Given the description of an element on the screen output the (x, y) to click on. 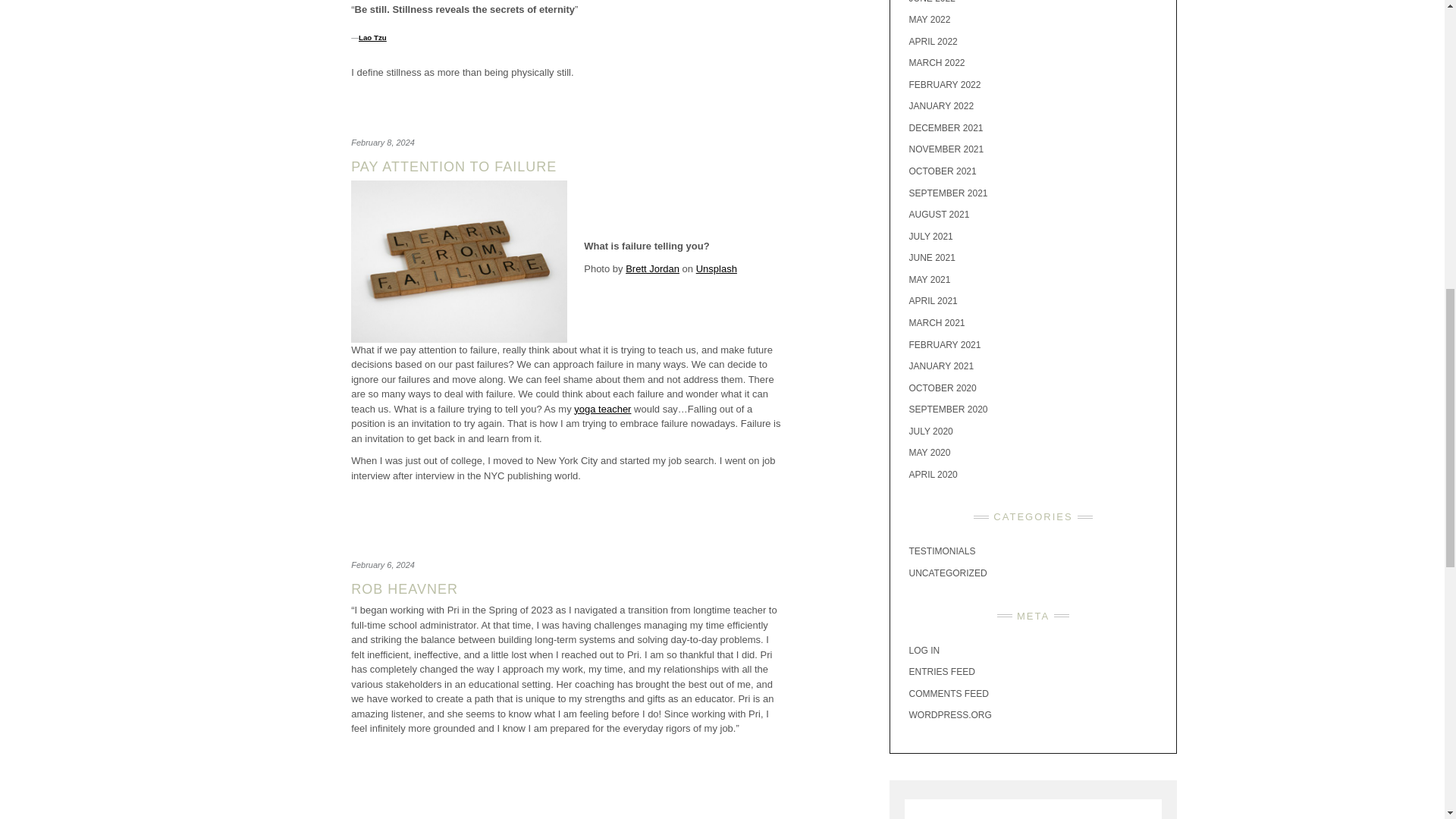
Lao Tzu (372, 37)
February 8, 2024 (382, 142)
ROB HEAVNER (404, 589)
February 6, 2024 (382, 564)
Brett Jordan (652, 268)
PAY ATTENTION TO FAILURE (453, 166)
Rob Heavner (404, 589)
Unsplash (715, 268)
Pay Attention to Failure (453, 166)
yoga teacher (601, 408)
